Given the description of an element on the screen output the (x, y) to click on. 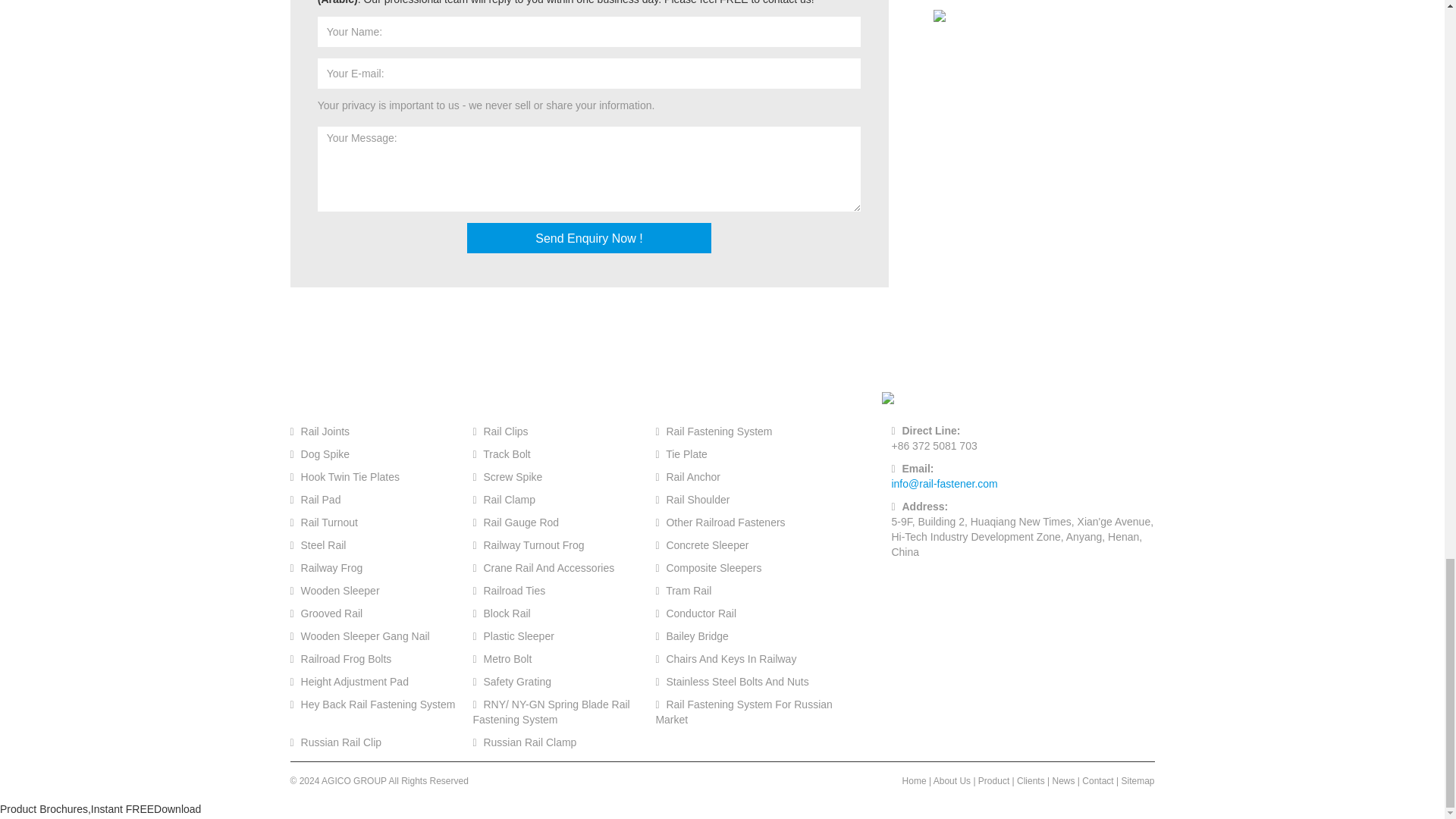
Send Enquiry Now ! (589, 237)
